Given the description of an element on the screen output the (x, y) to click on. 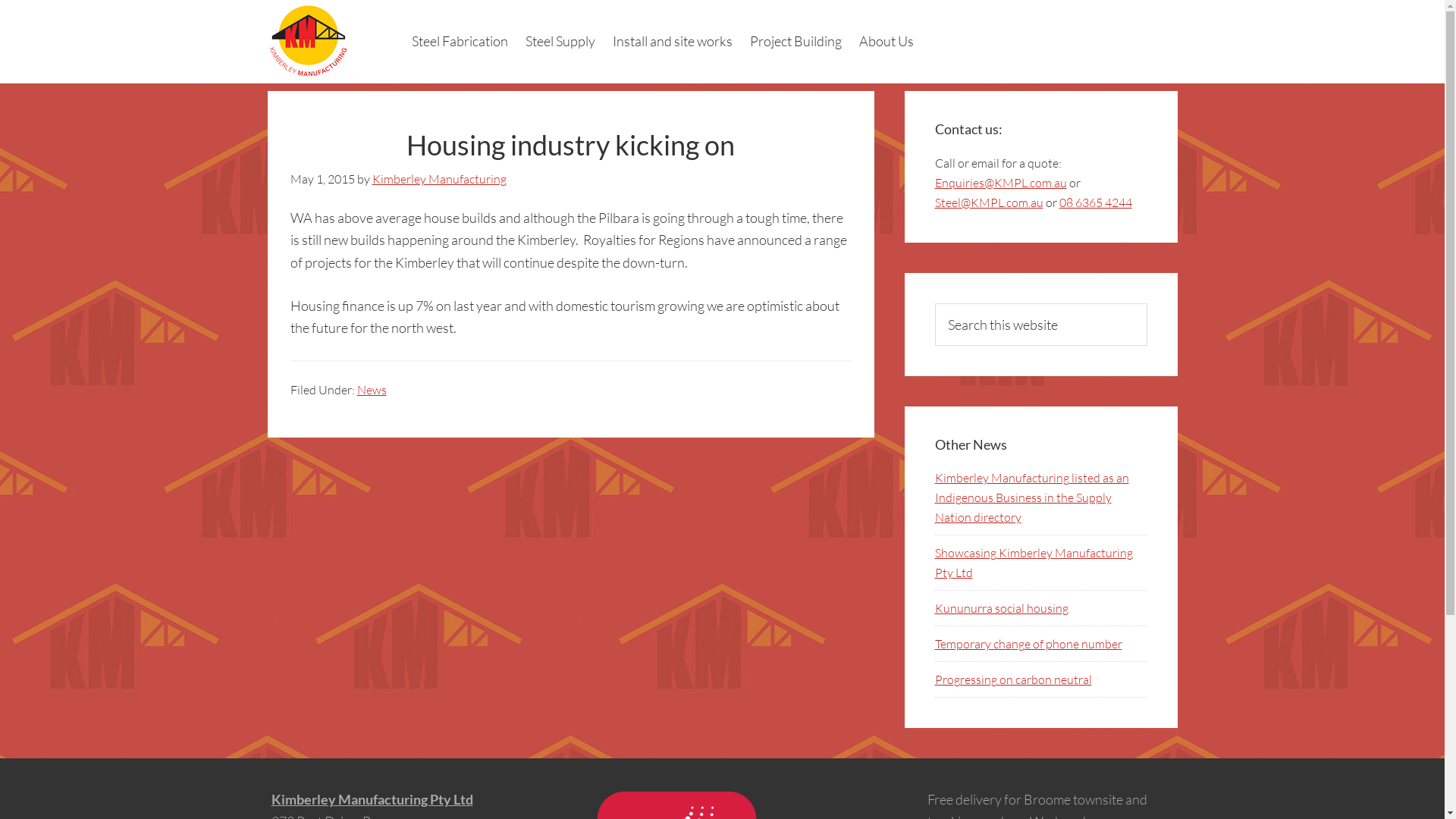
Install and site works Element type: text (672, 40)
Kimberley Manufacturing Pty Ltd Element type: text (334, 41)
Showcasing Kimberley Manufacturing Pty Ltd Element type: text (1033, 562)
Kimberley Manufacturing Pty Ltd Element type: text (372, 798)
Enquiries@KMPL.com.au Element type: text (1000, 182)
Kimberley Manufacturing Element type: text (438, 178)
News Element type: text (370, 389)
Temporary change of phone number Element type: text (1027, 643)
Project Building Element type: text (794, 40)
Steel Supply Element type: text (559, 40)
Steel Fabrication Element type: text (458, 40)
Search Element type: text (1146, 302)
Kununurra social housing Element type: text (1000, 607)
Progressing on carbon neutral Element type: text (1012, 679)
Steel@KMPL.com.au Element type: text (988, 202)
08 6365 4244 Element type: text (1094, 202)
Skip to main content Element type: text (0, 0)
About Us Element type: text (885, 40)
